Given the description of an element on the screen output the (x, y) to click on. 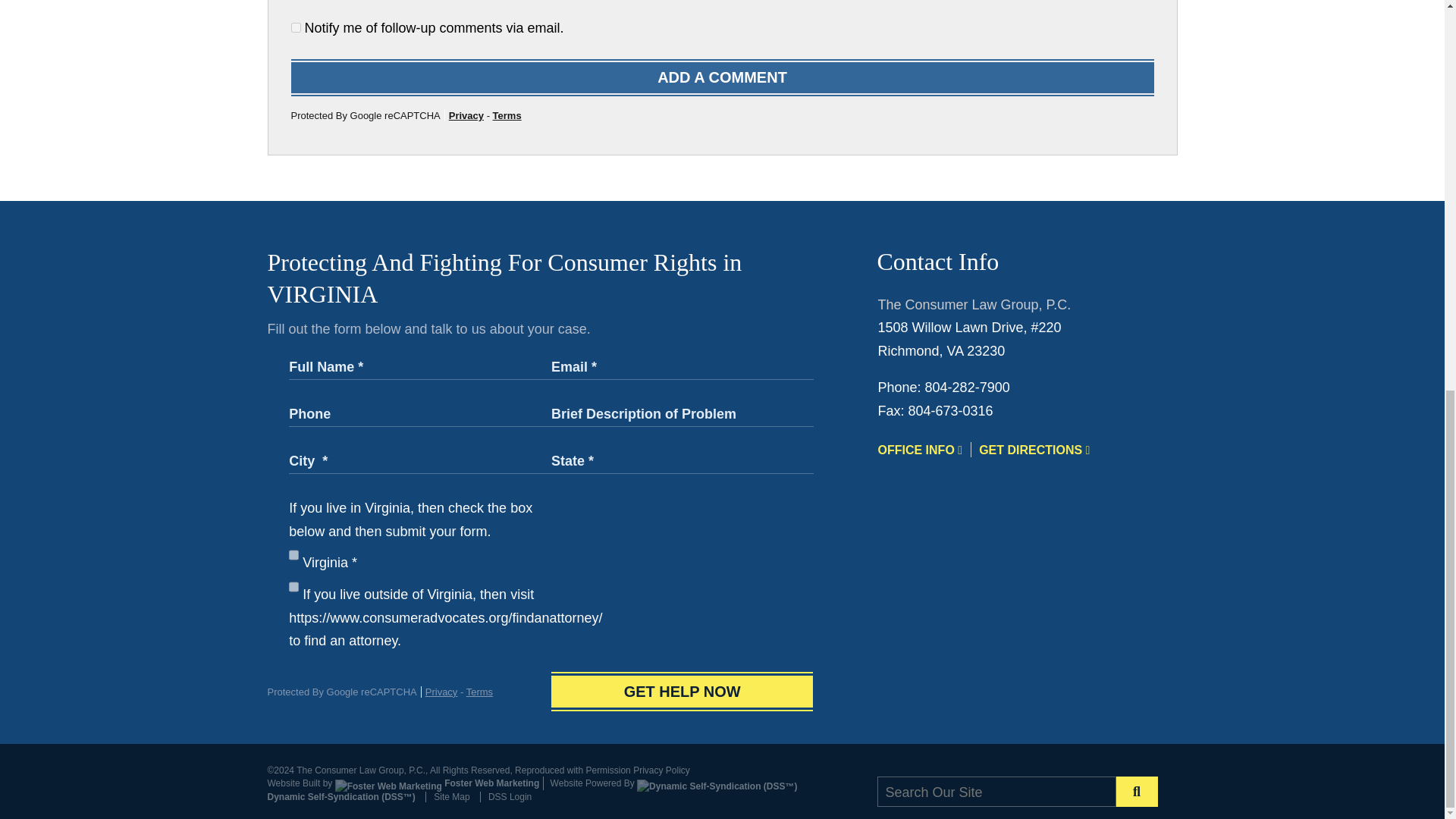
DSS Login (505, 796)
Terms (479, 691)
Foster Web Marketing (437, 783)
Privacy (441, 691)
1 (296, 27)
OFFICE INFO (919, 449)
GET DIRECTIONS (1033, 449)
ADD A COMMENT (722, 77)
GET HELP NOW (682, 691)
Site Map (446, 796)
